Given the description of an element on the screen output the (x, y) to click on. 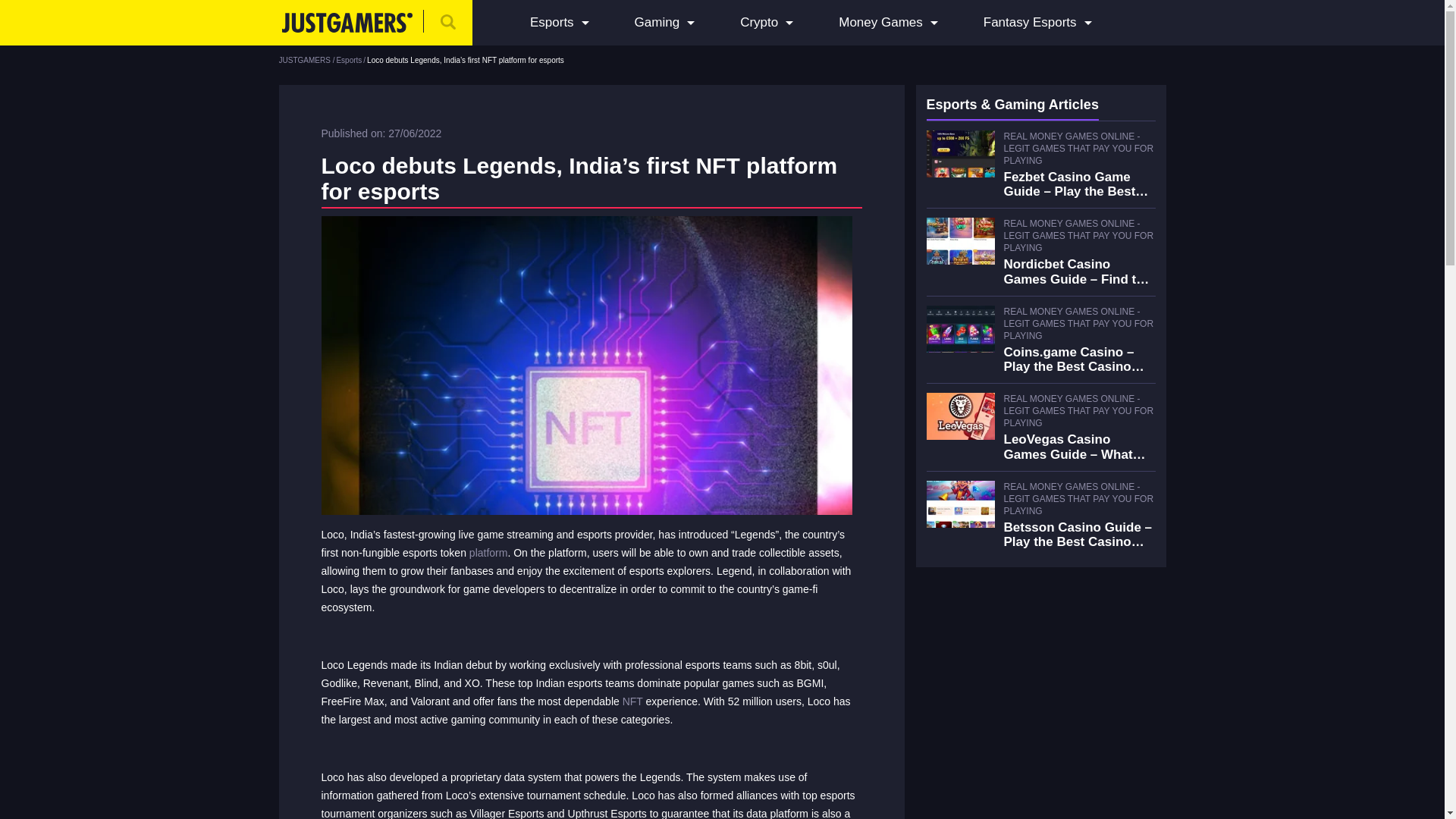
Gaming (656, 22)
Esports (551, 22)
Money Games (880, 22)
